Given the description of an element on the screen output the (x, y) to click on. 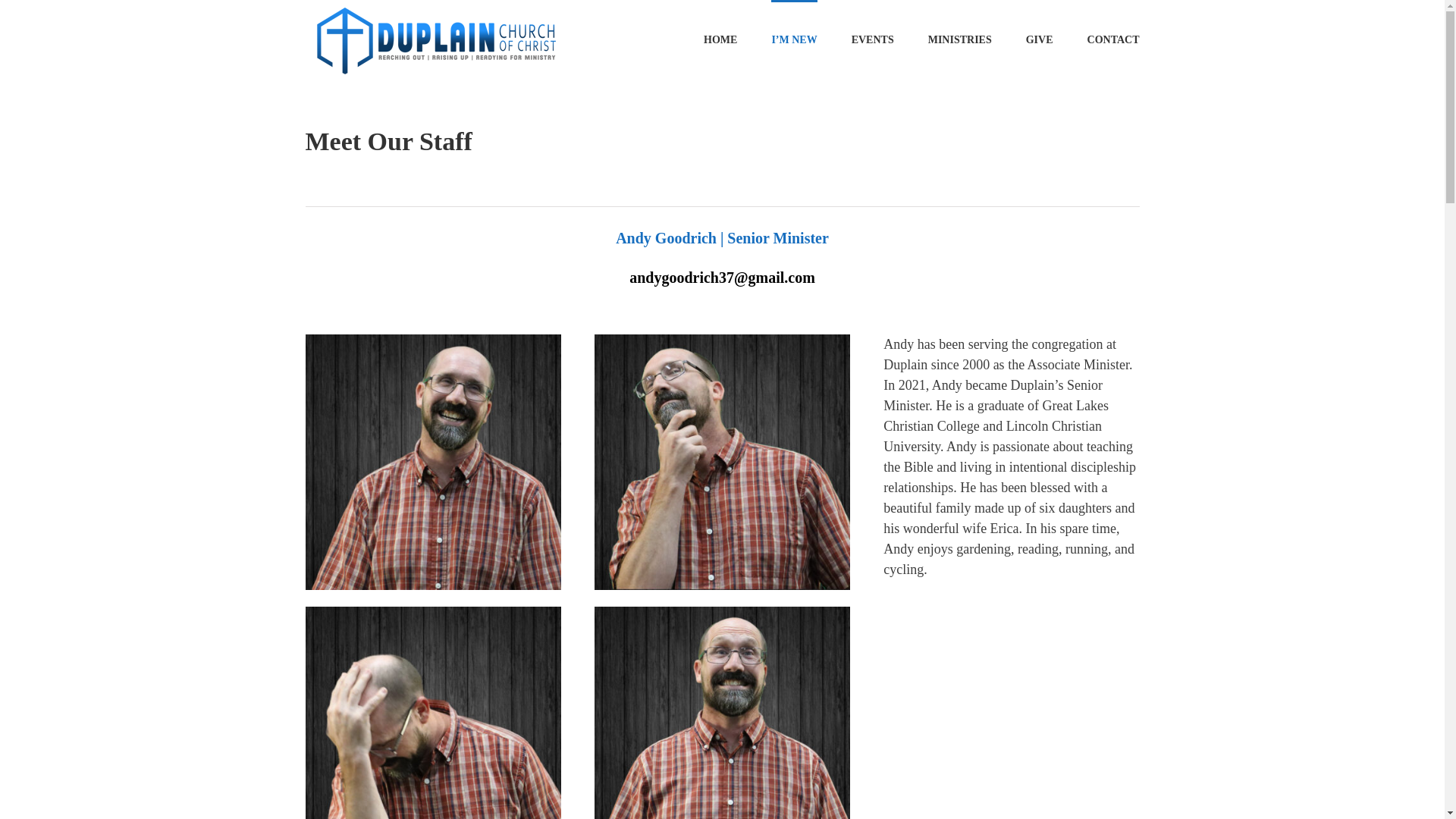
Meet Our Staff (721, 160)
